Given the description of an element on the screen output the (x, y) to click on. 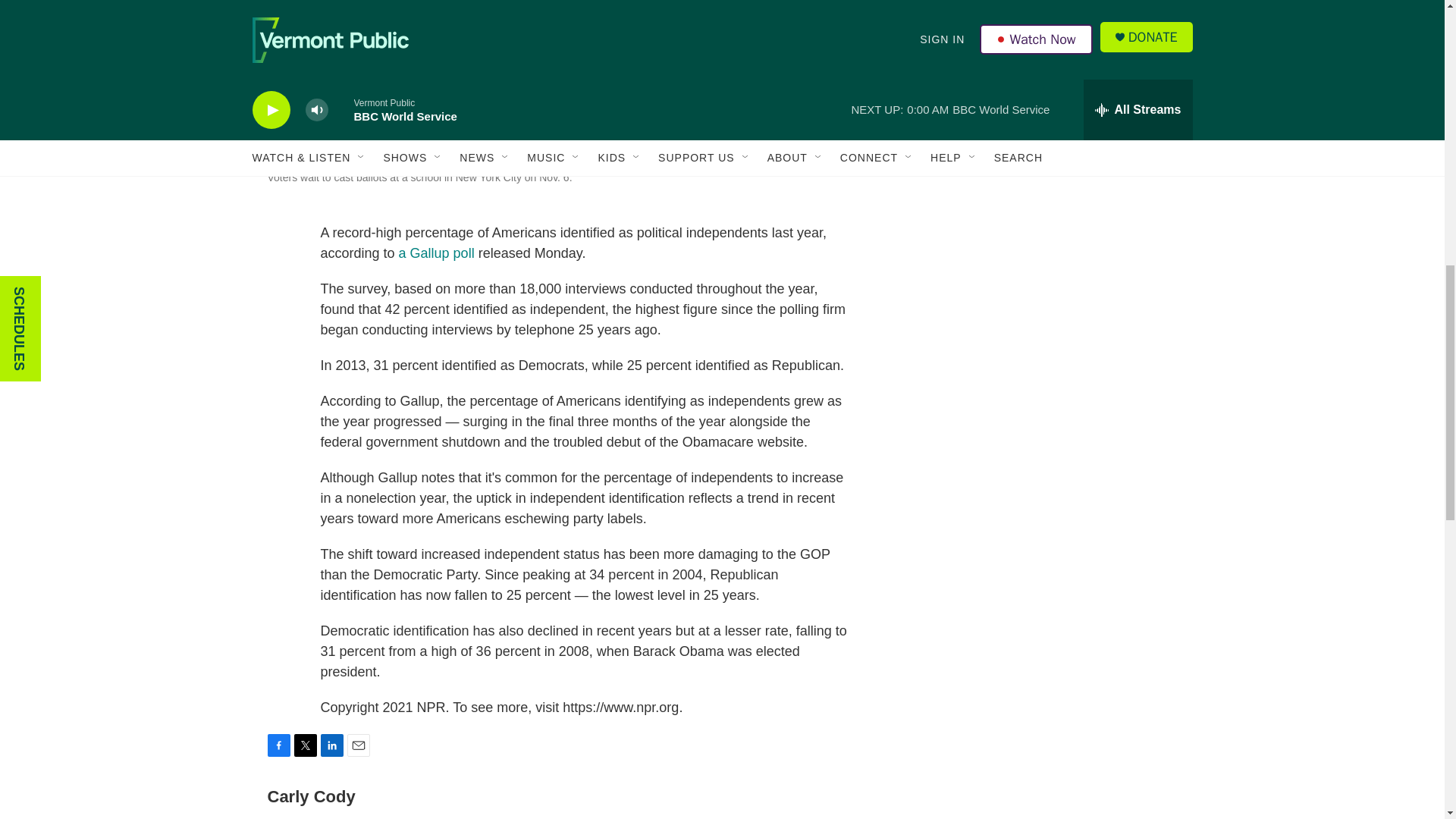
3rd party ad content (1062, 343)
3rd party ad content (1062, 124)
